Given the description of an element on the screen output the (x, y) to click on. 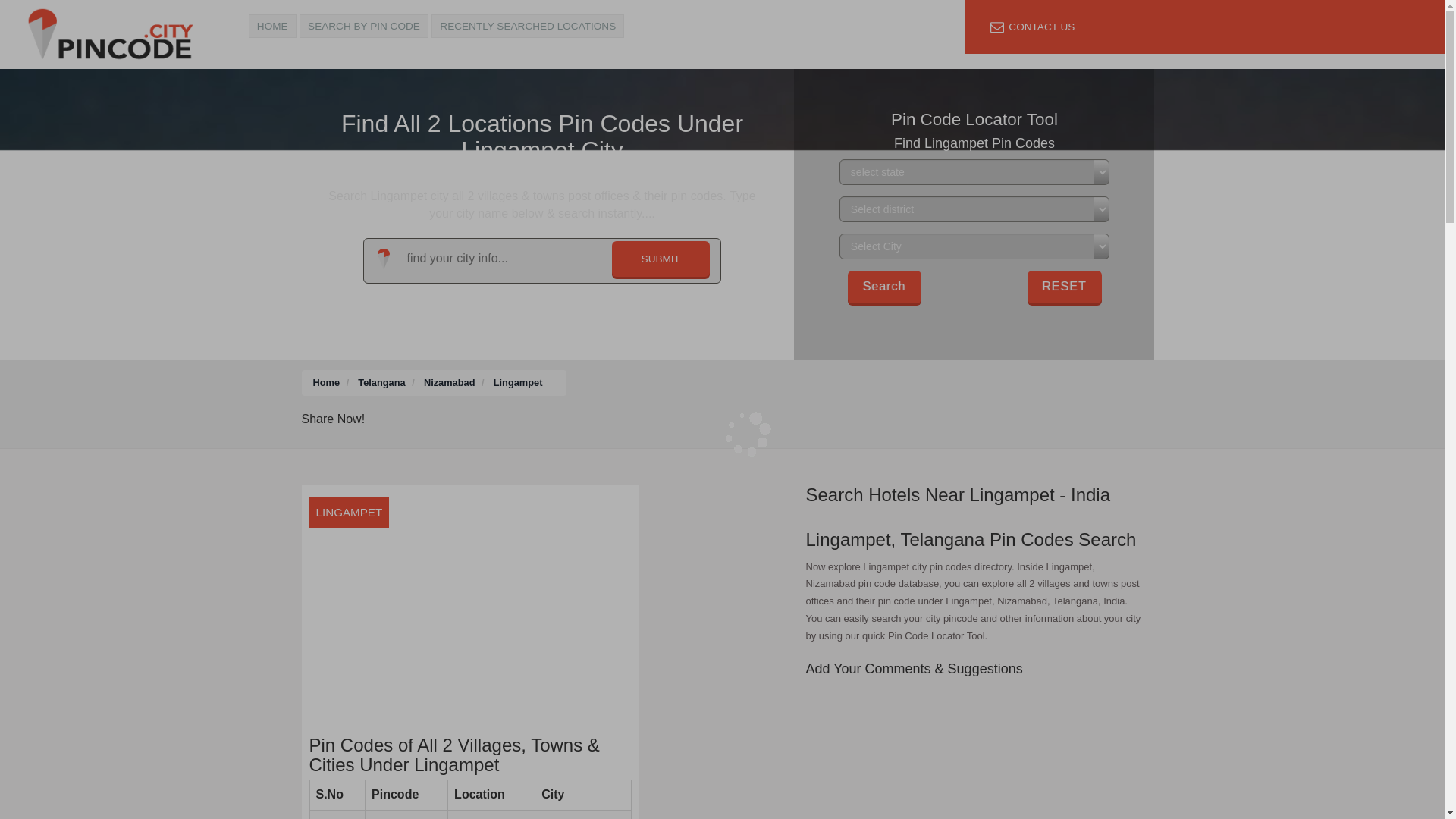
Nizamabad (449, 382)
Home (326, 382)
submit (660, 258)
LINGAMPET (469, 606)
CONTACT US (1032, 25)
Telangana (381, 382)
Search (884, 287)
HOME (272, 25)
Search (884, 287)
RESET (1064, 286)
